Given the description of an element on the screen output the (x, y) to click on. 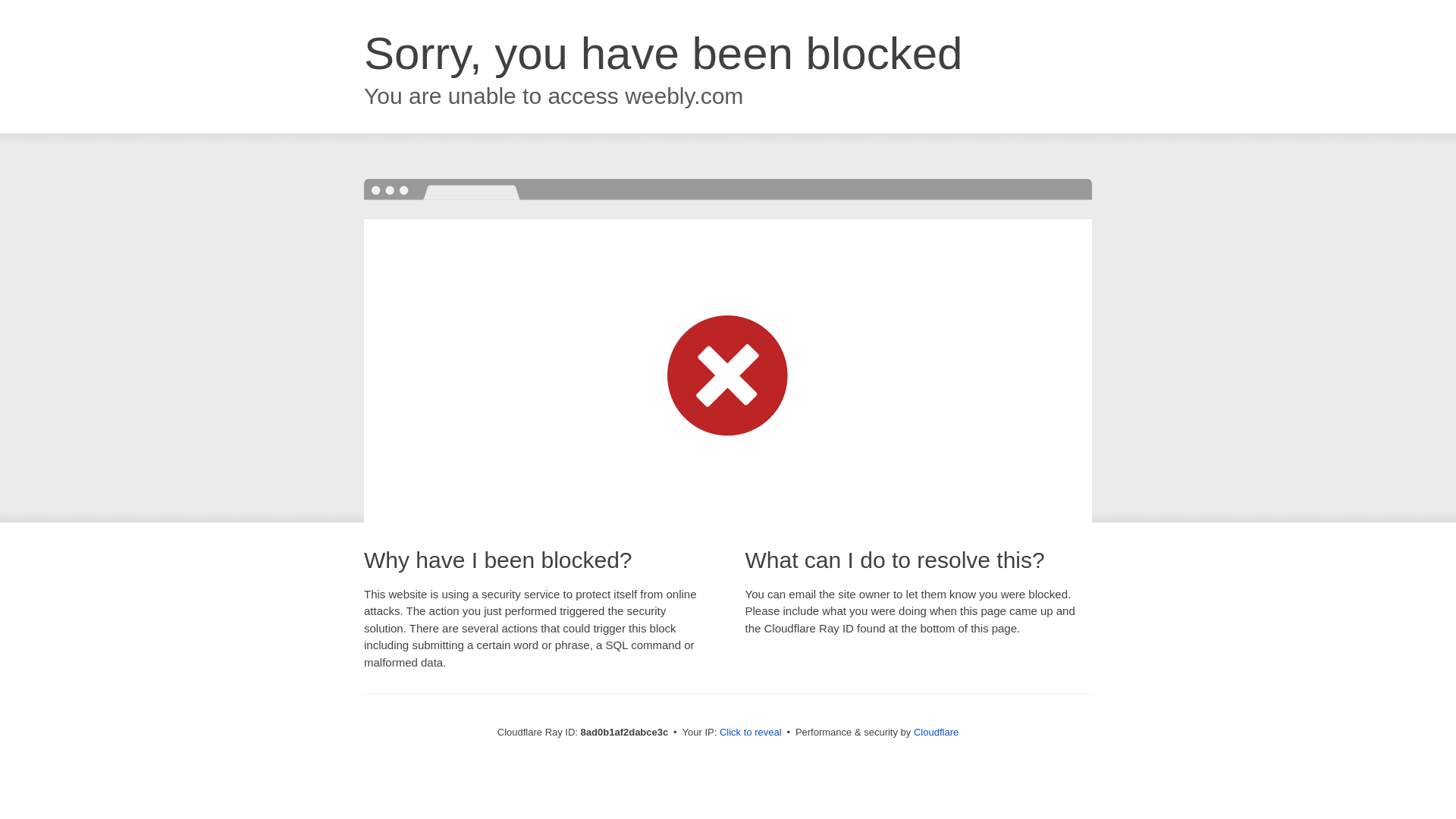
Cloudflare (936, 731)
Click to reveal (750, 732)
